Given the description of an element on the screen output the (x, y) to click on. 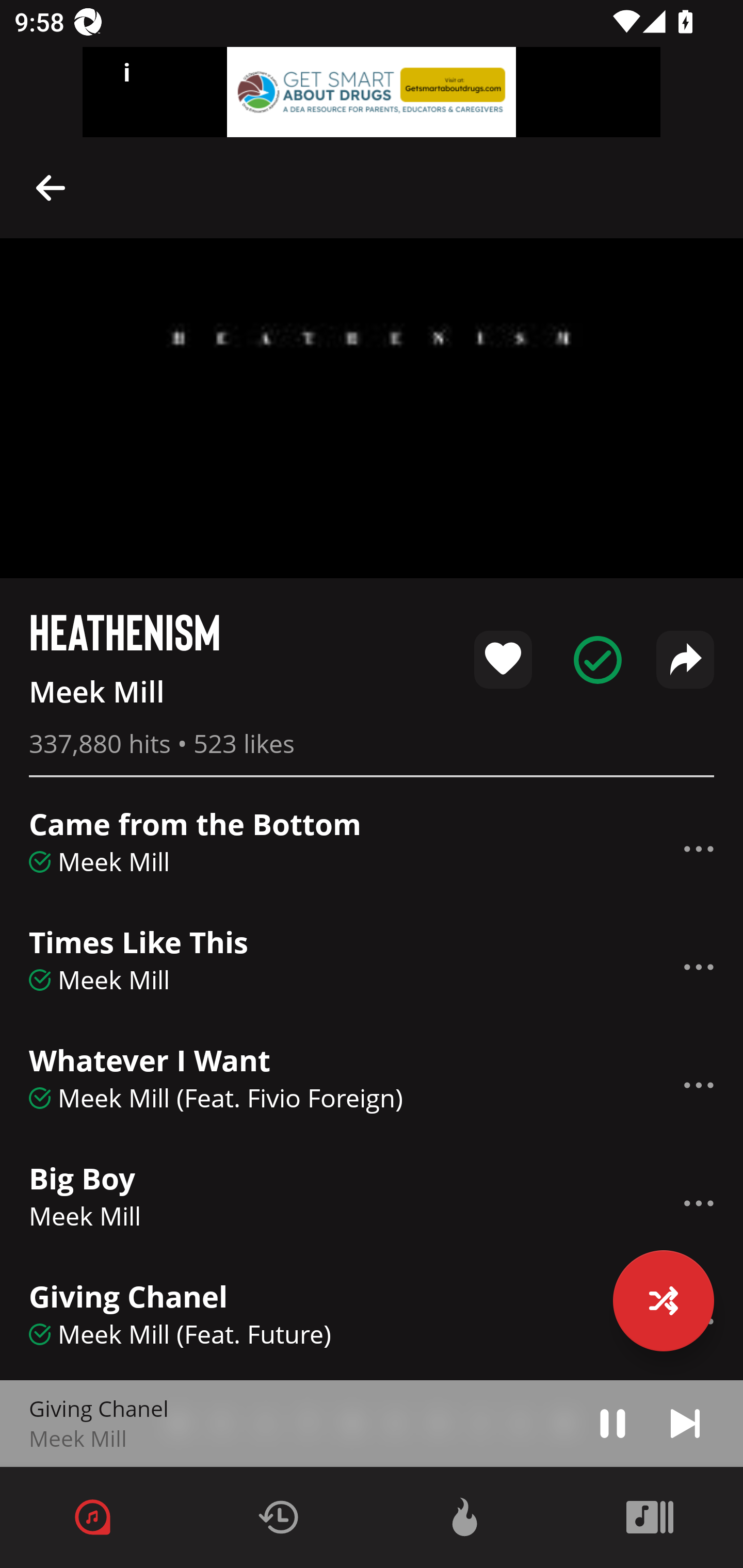
Description (50, 187)
Description (698, 848)
Times Like This Description Meek Mill Description (371, 966)
Description (698, 967)
Description (698, 1084)
Big Boy Meek Mill Description (371, 1203)
Description (698, 1203)
Giving Chanel Meek Mill Description Description (371, 1423)
Description (612, 1422)
Description (685, 1422)
